Given the description of an element on the screen output the (x, y) to click on. 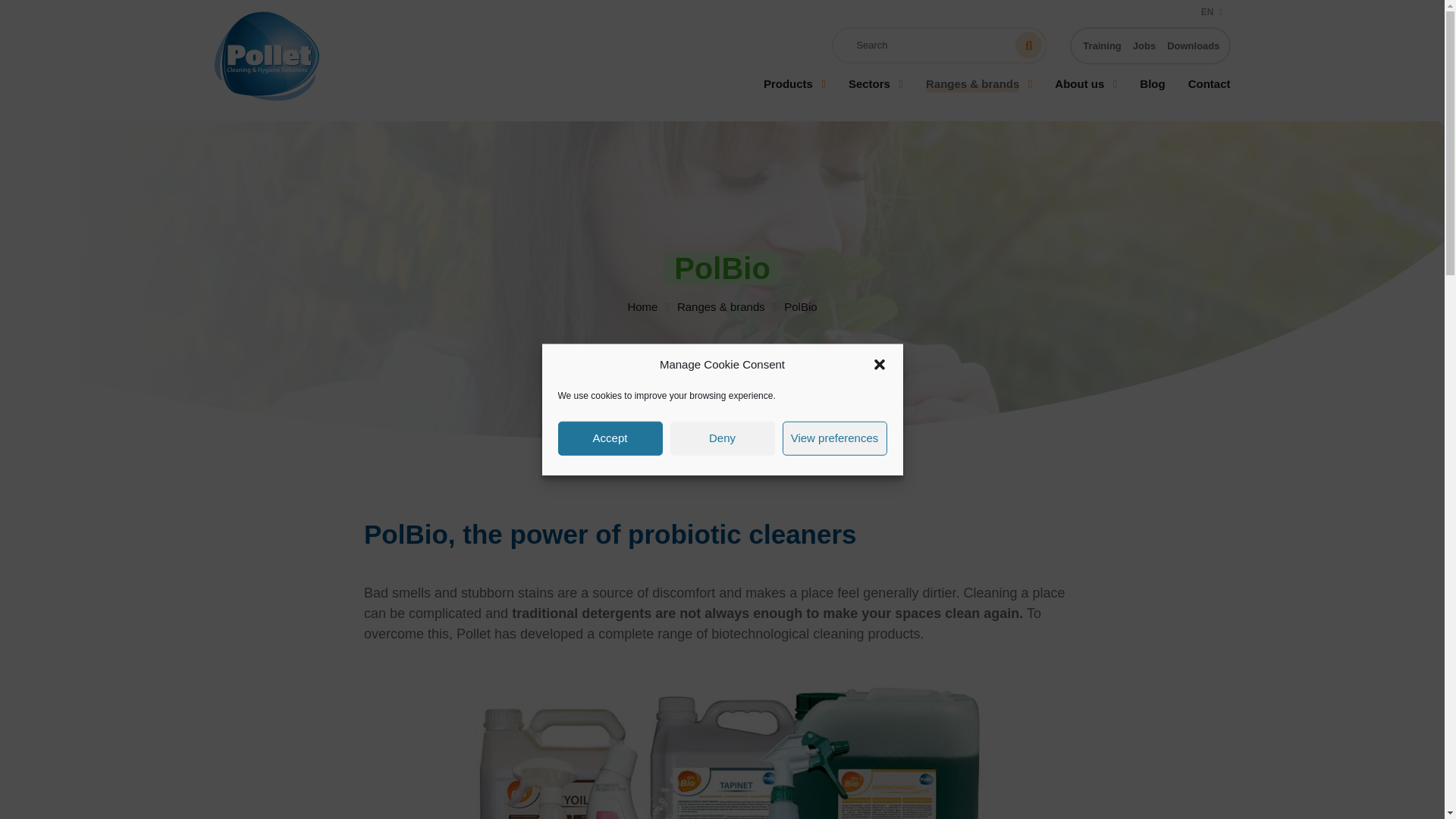
EN (1212, 13)
Sectors (875, 91)
View preferences (834, 437)
Accept (609, 437)
Deny (721, 437)
Home (642, 306)
Products (793, 91)
Return to home (340, 55)
